Given the description of an element on the screen output the (x, y) to click on. 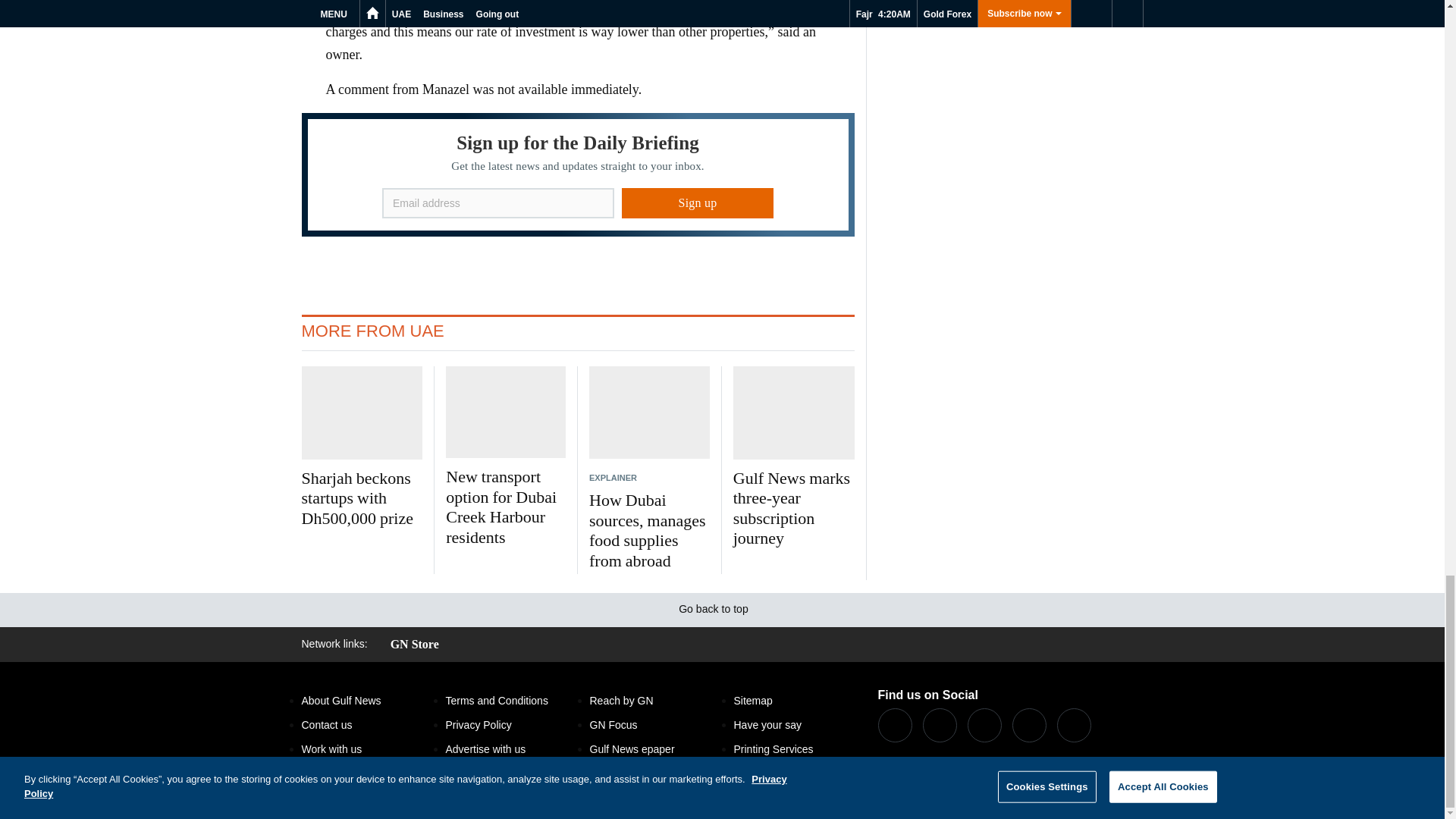
Sign up for the Daily Briefing (577, 174)
